Given the description of an element on the screen output the (x, y) to click on. 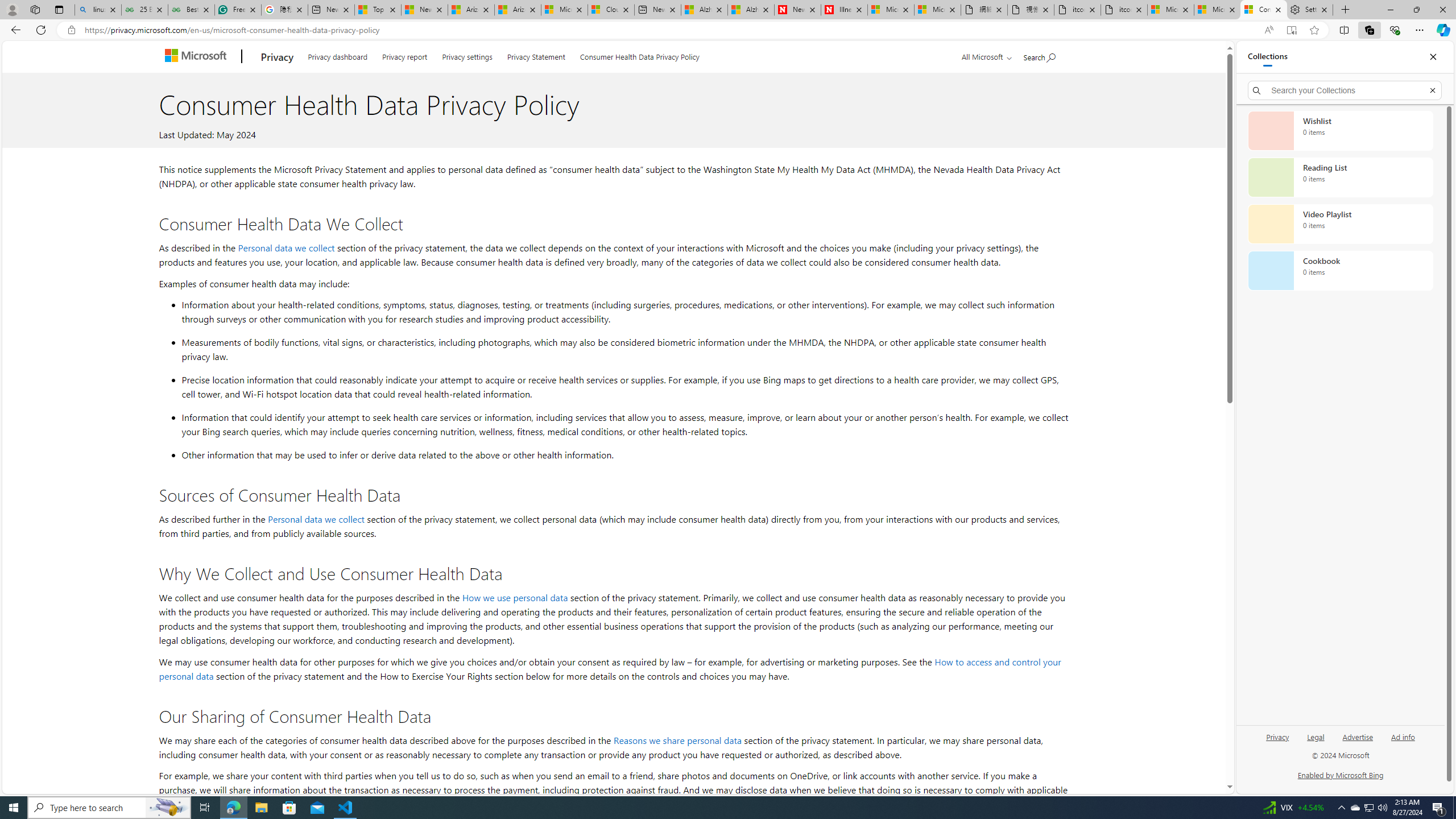
Consumer Health Data Privacy Policy (639, 54)
Reading List collection, 0 items (1339, 177)
Privacy dashboard (337, 54)
